Given the description of an element on the screen output the (x, y) to click on. 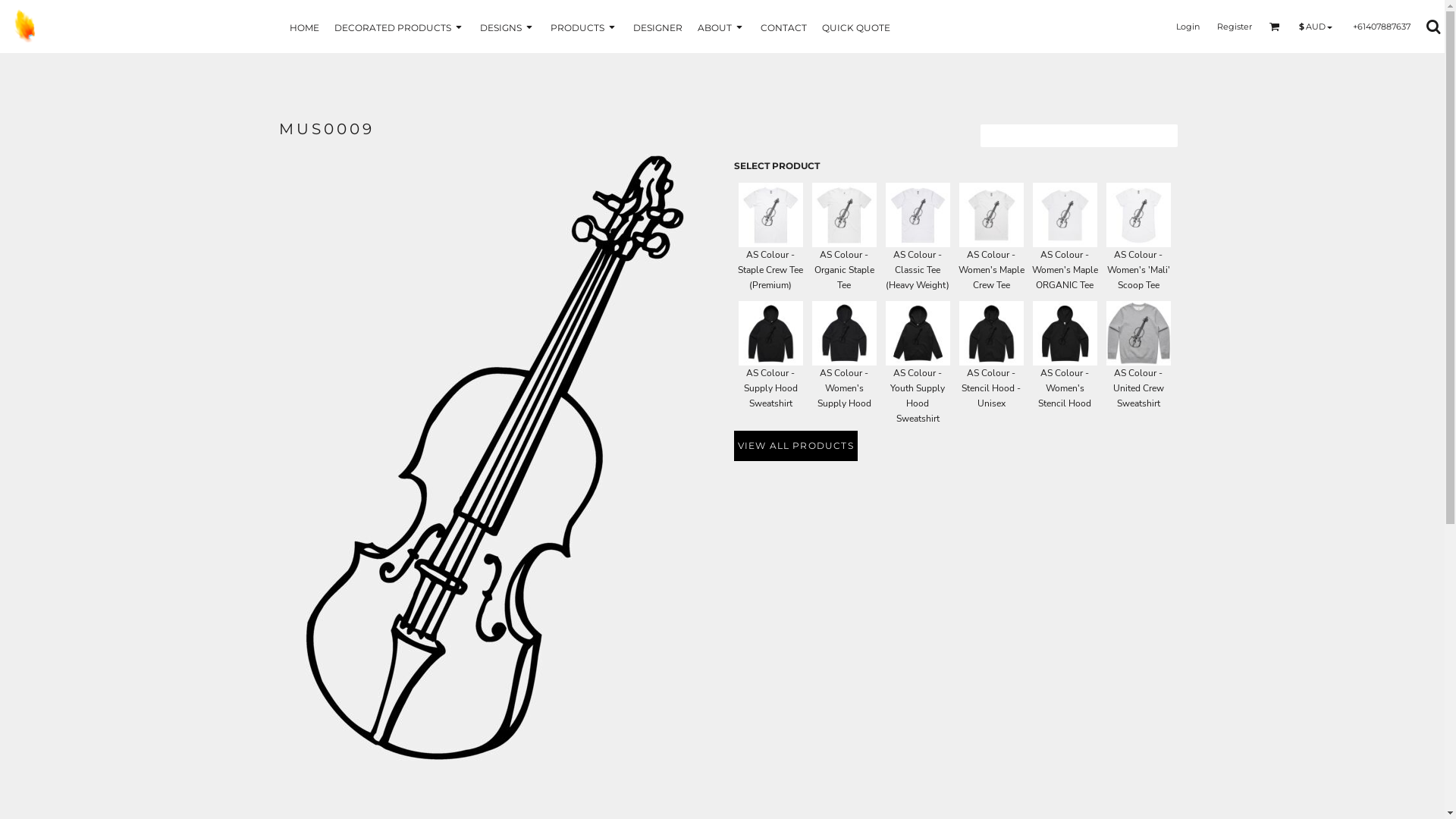
AS Colour - Youth Supply Hood Sweatshirt Element type: hover (917, 333)
AS Colour - Classic Tee (Heavy Weight) Element type: hover (917, 214)
AS Colour - Organic Staple Tee Element type: hover (844, 214)
AS Colour - Organic Staple Tee Element type: text (844, 269)
DESIGNS Element type: text (506, 26)
AS Colour - Women's Supply Hood Element type: text (844, 388)
AS Colour - Women's Stencil Hood Element type: hover (1064, 333)
AS Colour - Women's Supply Hood Element type: hover (844, 333)
AS Colour - Stencil Hood - Unisex Element type: hover (991, 333)
AS Colour - Staple Crew Tee (Premium) Element type: text (770, 269)
AS Colour - Women's Stencil Hood Element type: text (1064, 388)
AS Colour - Women's 'Mali' Scoop Tee Element type: text (1138, 269)
AS Colour - Women's Maple ORGANIC Tee Element type: text (1064, 269)
Login Element type: text (1186, 26)
AS Colour - Supply Hood Sweatshirt Element type: hover (770, 333)
AS Colour - Youth Supply Hood Sweatshirt Element type: text (917, 395)
AS Colour - Women's  Maple ORGANIC Tee Element type: hover (1064, 214)
AS Colour - Women's Maple Crew Tee Element type: hover (991, 214)
PRODUCTS Element type: text (584, 26)
CONTACT Element type: text (782, 26)
AS Colour - Classic Tee (Heavy Weight) Element type: text (917, 269)
AS Colour - Supply Hood Sweatshirt Element type: text (770, 388)
AS Colour - United Crew Sweatshirt Element type: text (1138, 388)
AS Colour - Staple Crew Tee (Premium) Element type: hover (770, 214)
ABOUT Element type: text (721, 26)
AS Colour - Women's 'Mali' Scoop Tee Element type: hover (1138, 214)
QUICK QUOTE Element type: text (856, 26)
Register Element type: text (1233, 26)
VIEW ALL PRODUCTS Element type: text (795, 445)
DECORATED PRODUCTS Element type: text (398, 26)
DESIGNER Element type: text (656, 26)
AS Colour - Women's Maple Crew Tee Element type: text (991, 269)
AS Colour - United Crew Sweatshirt Element type: hover (1138, 333)
HOME Element type: text (304, 26)
as Element type: text (11, 7)
AS Colour - Stencil Hood - Unisex Element type: text (990, 388)
